Given the description of an element on the screen output the (x, y) to click on. 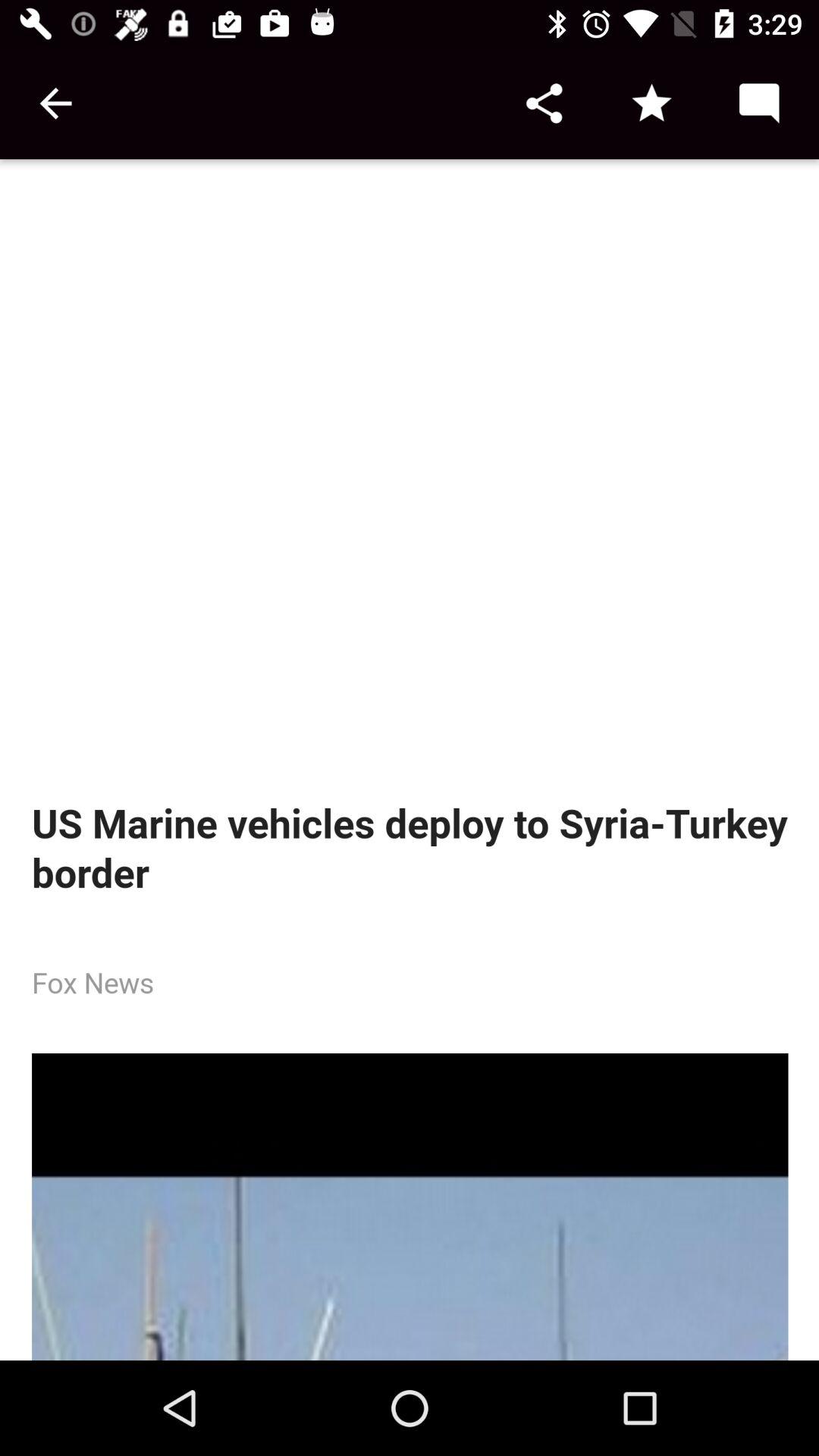
message (758, 103)
